Given the description of an element on the screen output the (x, y) to click on. 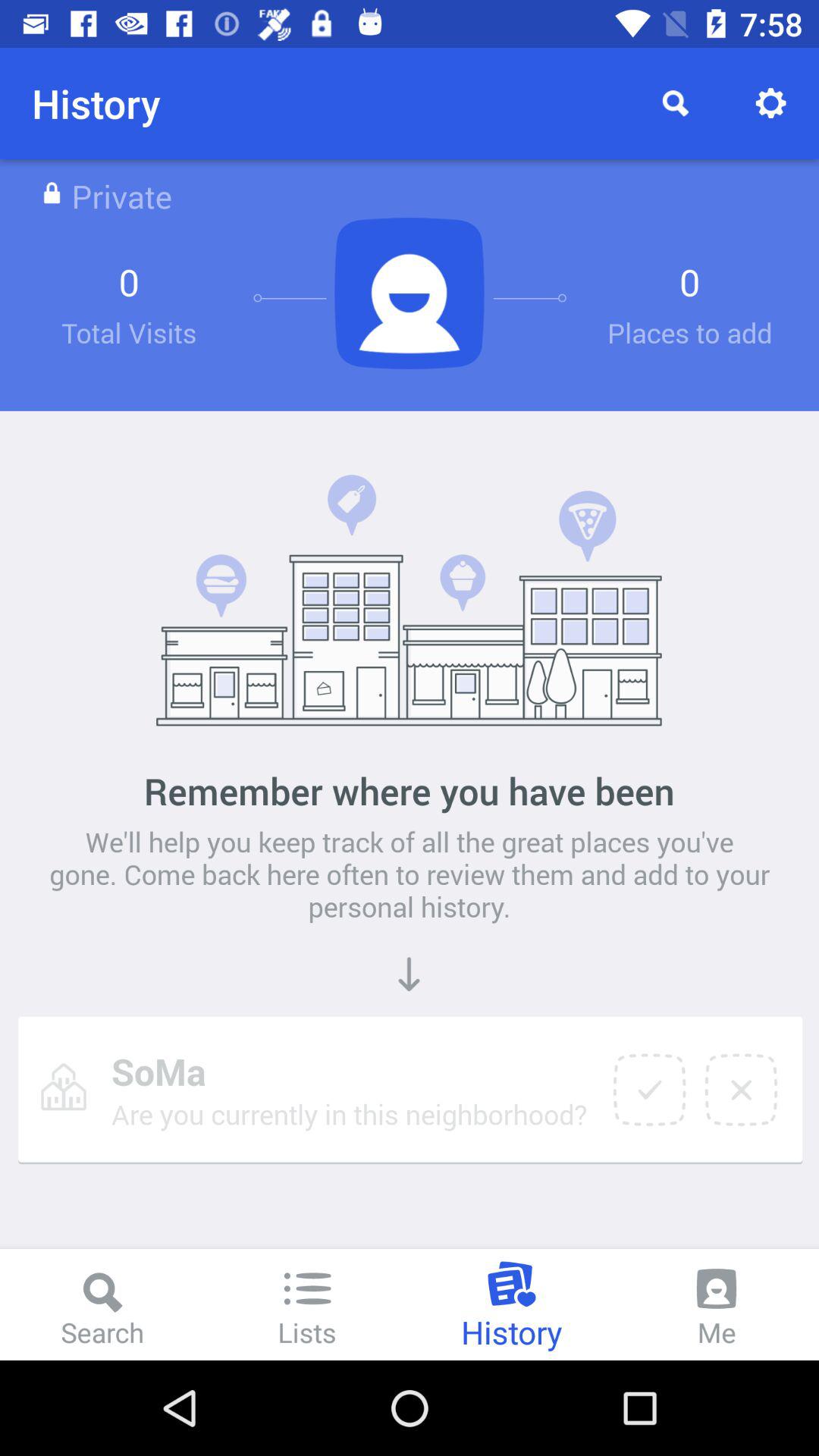
choose yes (649, 1089)
